Given the description of an element on the screen output the (x, y) to click on. 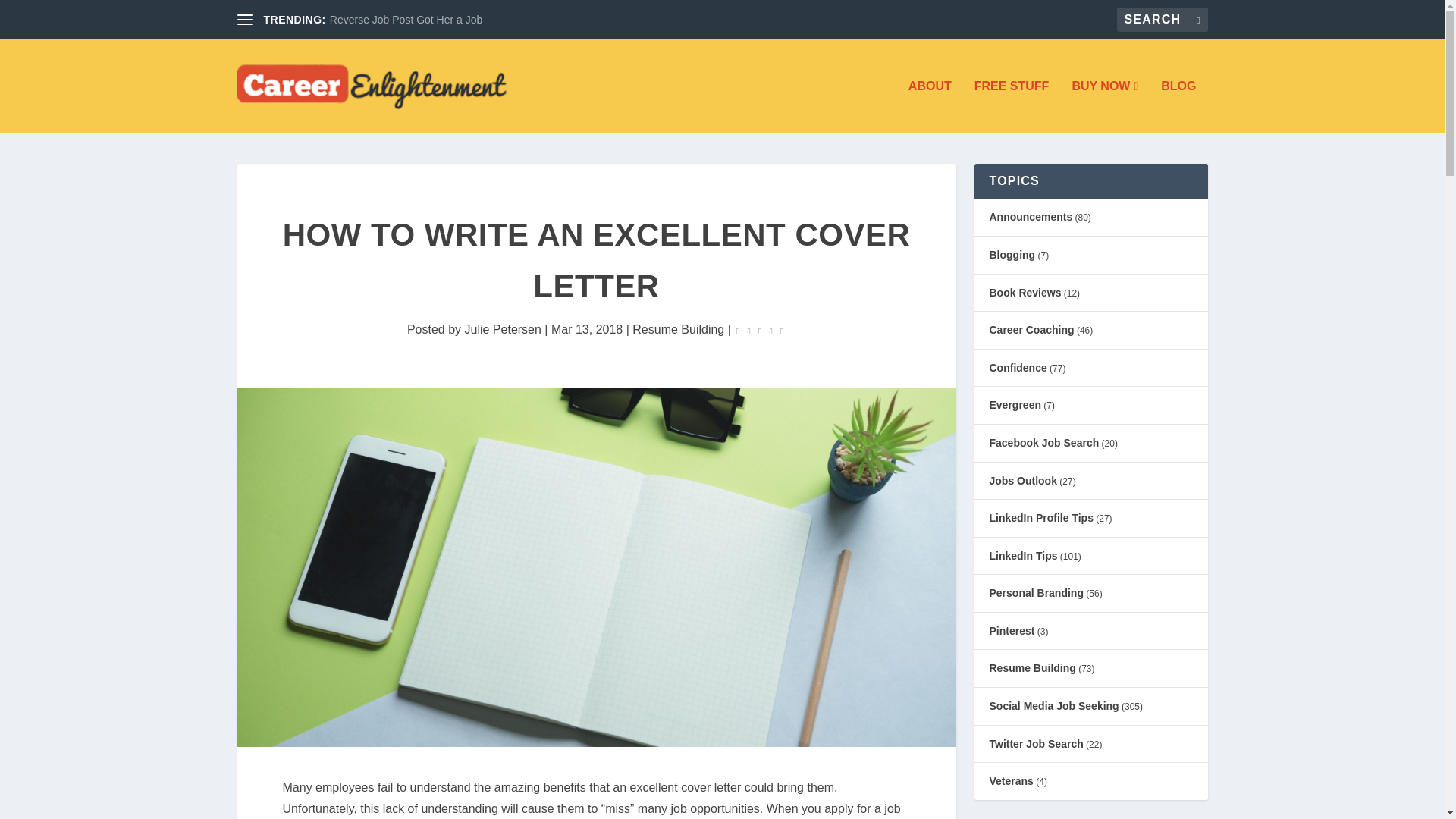
BUY NOW (1104, 106)
Rating: 0.00 (759, 330)
Reverse Job Post Got Her a Job (406, 19)
Posts by Julie Petersen (502, 328)
Search for: (1161, 19)
Julie Petersen (502, 328)
Resume Building (677, 328)
FREE STUFF (1011, 106)
